Given the description of an element on the screen output the (x, y) to click on. 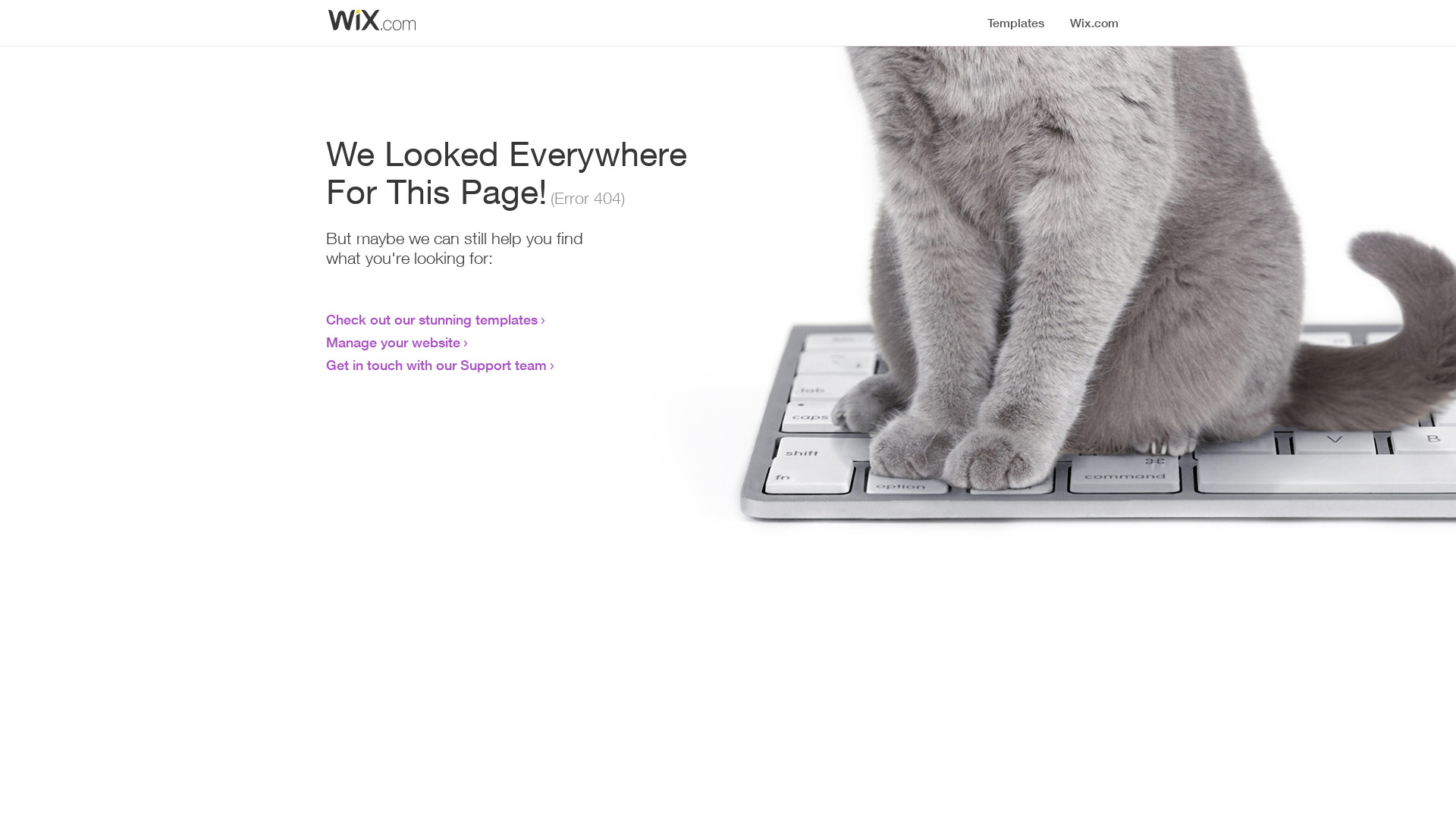
Get in touch with our Support team Element type: text (436, 364)
Manage your website Element type: text (393, 341)
Check out our stunning templates Element type: text (431, 318)
